Given the description of an element on the screen output the (x, y) to click on. 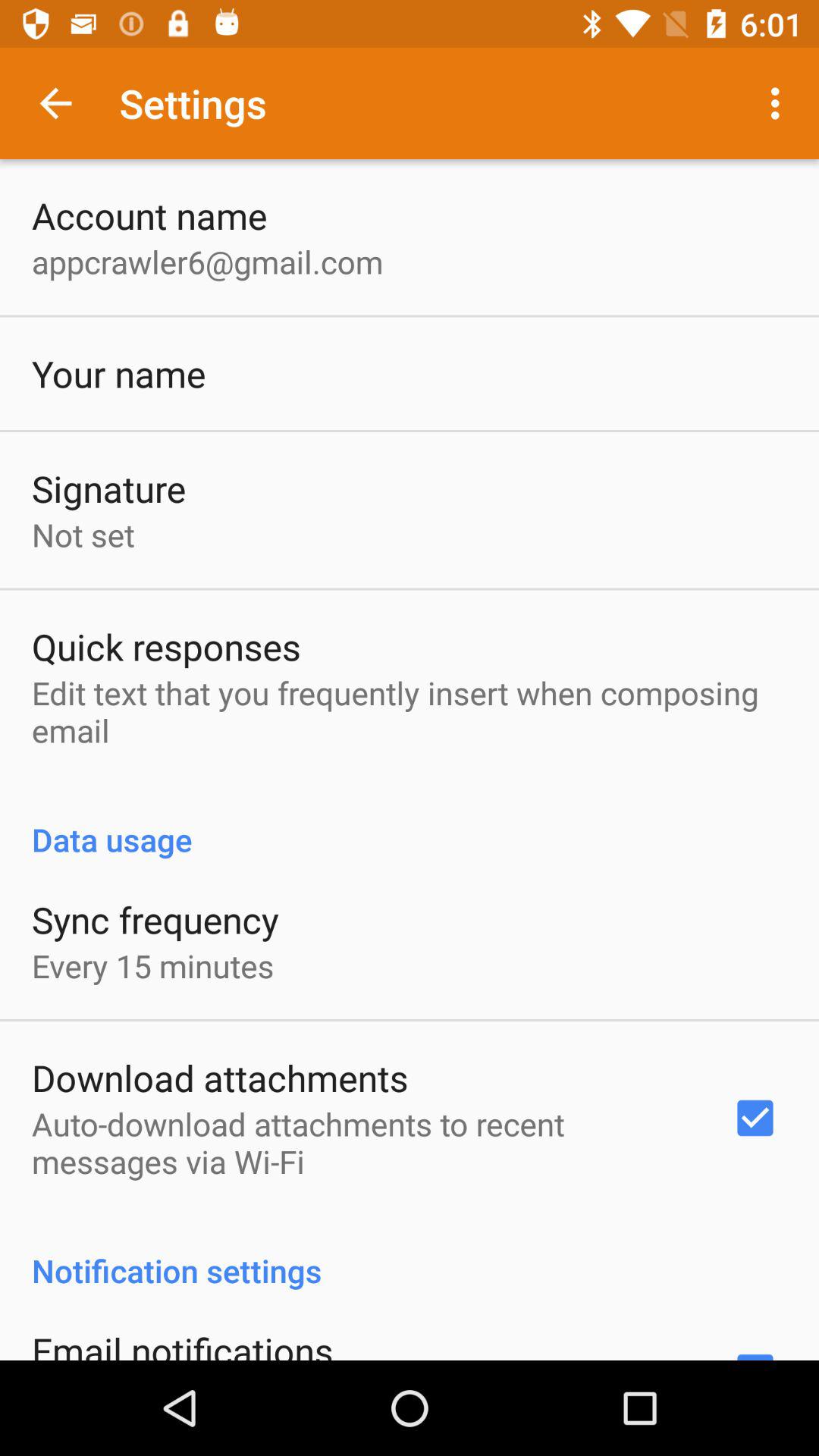
choose the app above the edit text that item (165, 646)
